Given the description of an element on the screen output the (x, y) to click on. 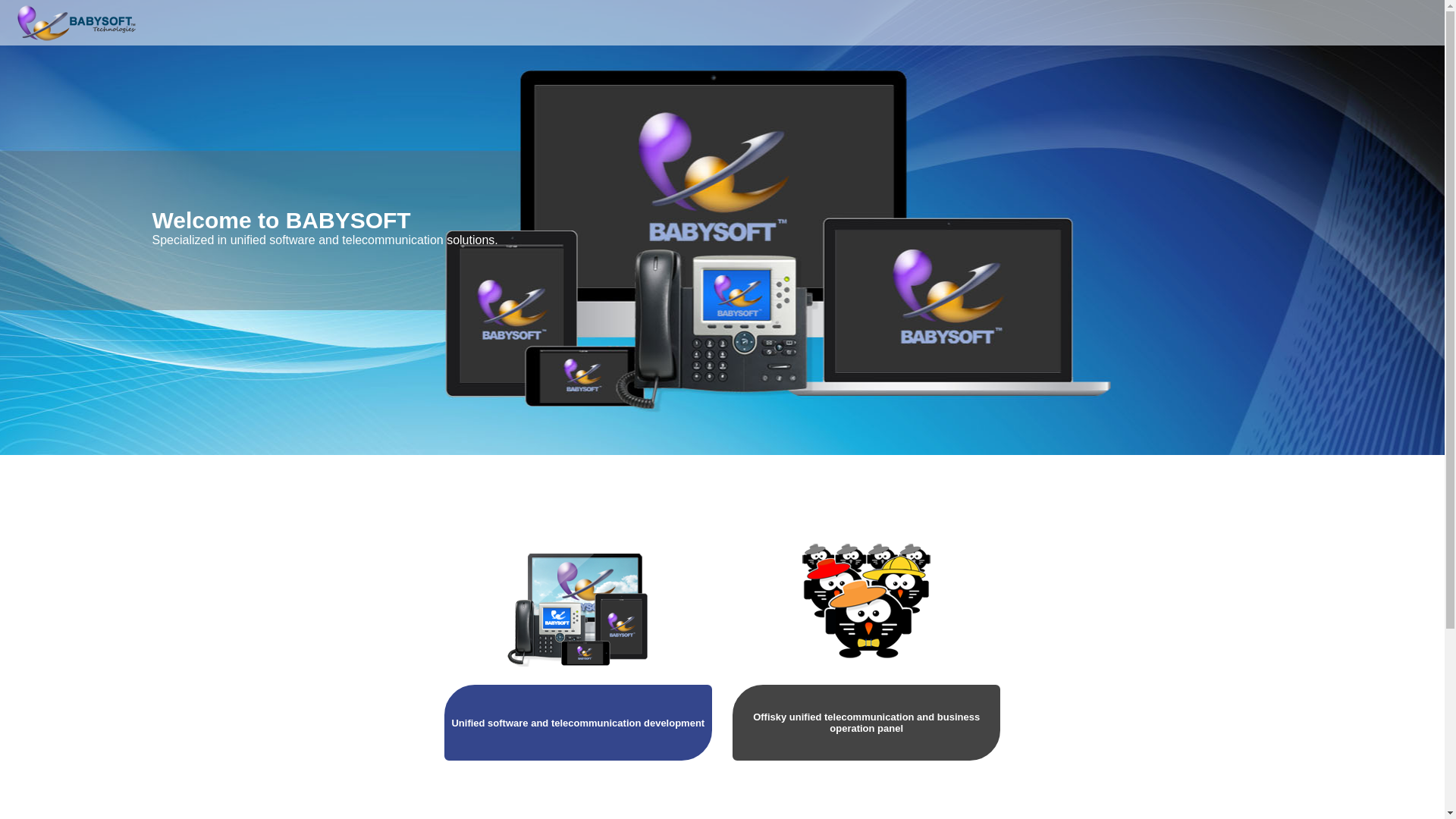
Unified software and telecommunication development Element type: text (578, 649)
